Given the description of an element on the screen output the (x, y) to click on. 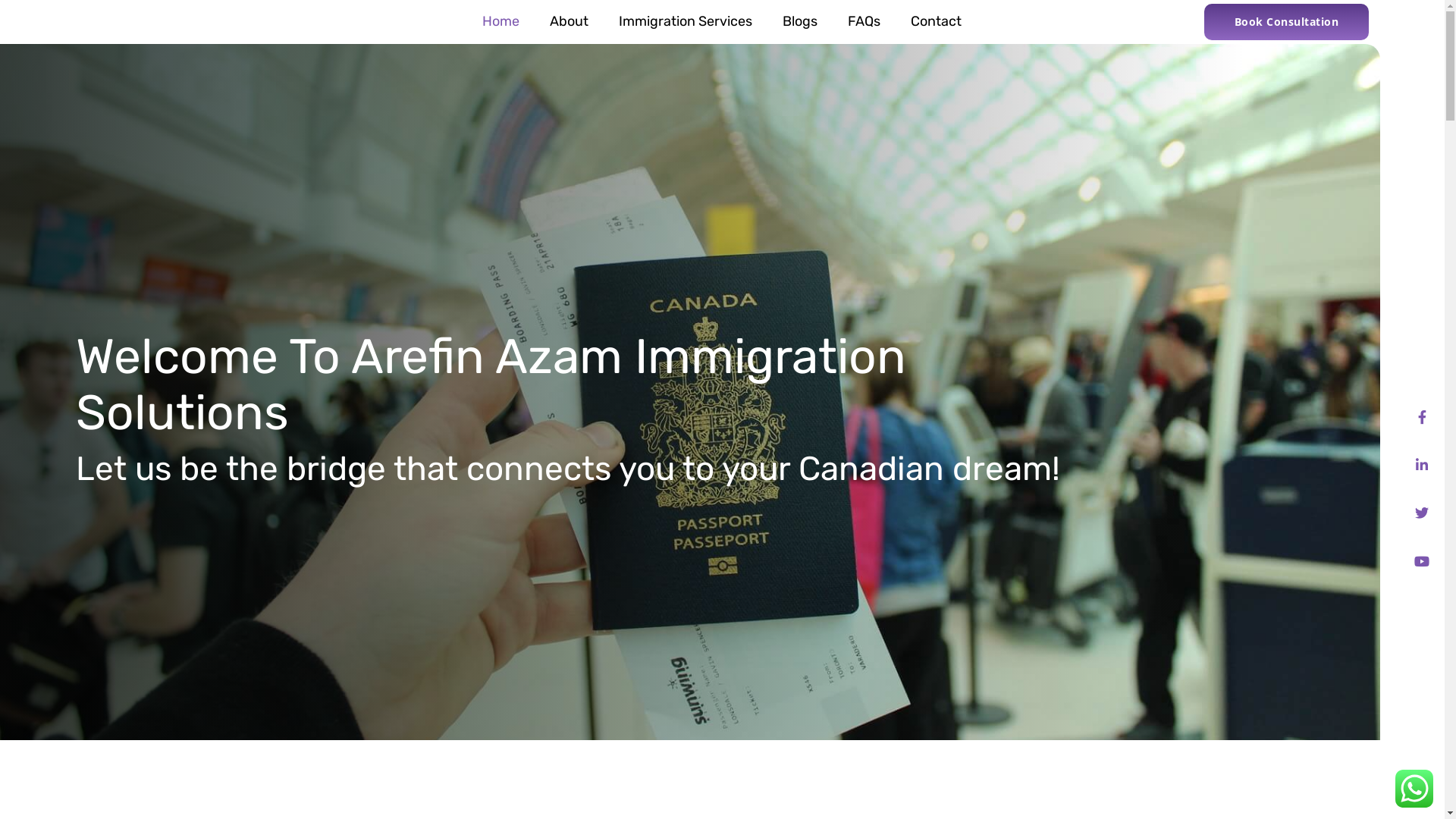
Immigration Services Element type: text (685, 21)
Blogs Element type: text (799, 21)
Home Element type: text (500, 21)
Contact Element type: text (935, 21)
FAQs Element type: text (863, 21)
Book Consultation Element type: text (1286, 21)
About Element type: text (568, 21)
